Given the description of an element on the screen output the (x, y) to click on. 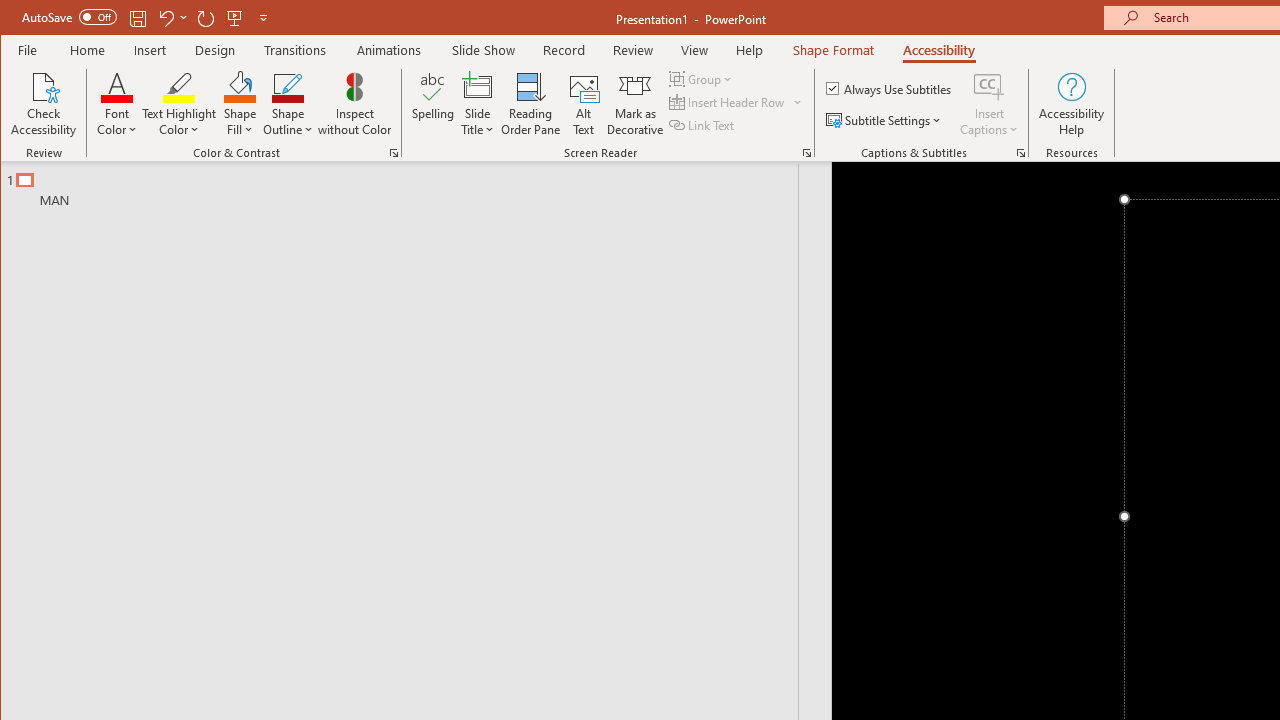
Insert Captions (989, 86)
Shape Fill Orange, Accent 2 (239, 86)
Mark as Decorative (635, 104)
AutoSave (68, 16)
Check Accessibility (43, 104)
Save (138, 17)
Customize Quick Access Toolbar (263, 17)
Group (701, 78)
Shape Outline Blue, Accent 1 (288, 86)
Insert Header Row (728, 101)
Quick Access Toolbar (146, 17)
